Given the description of an element on the screen output the (x, y) to click on. 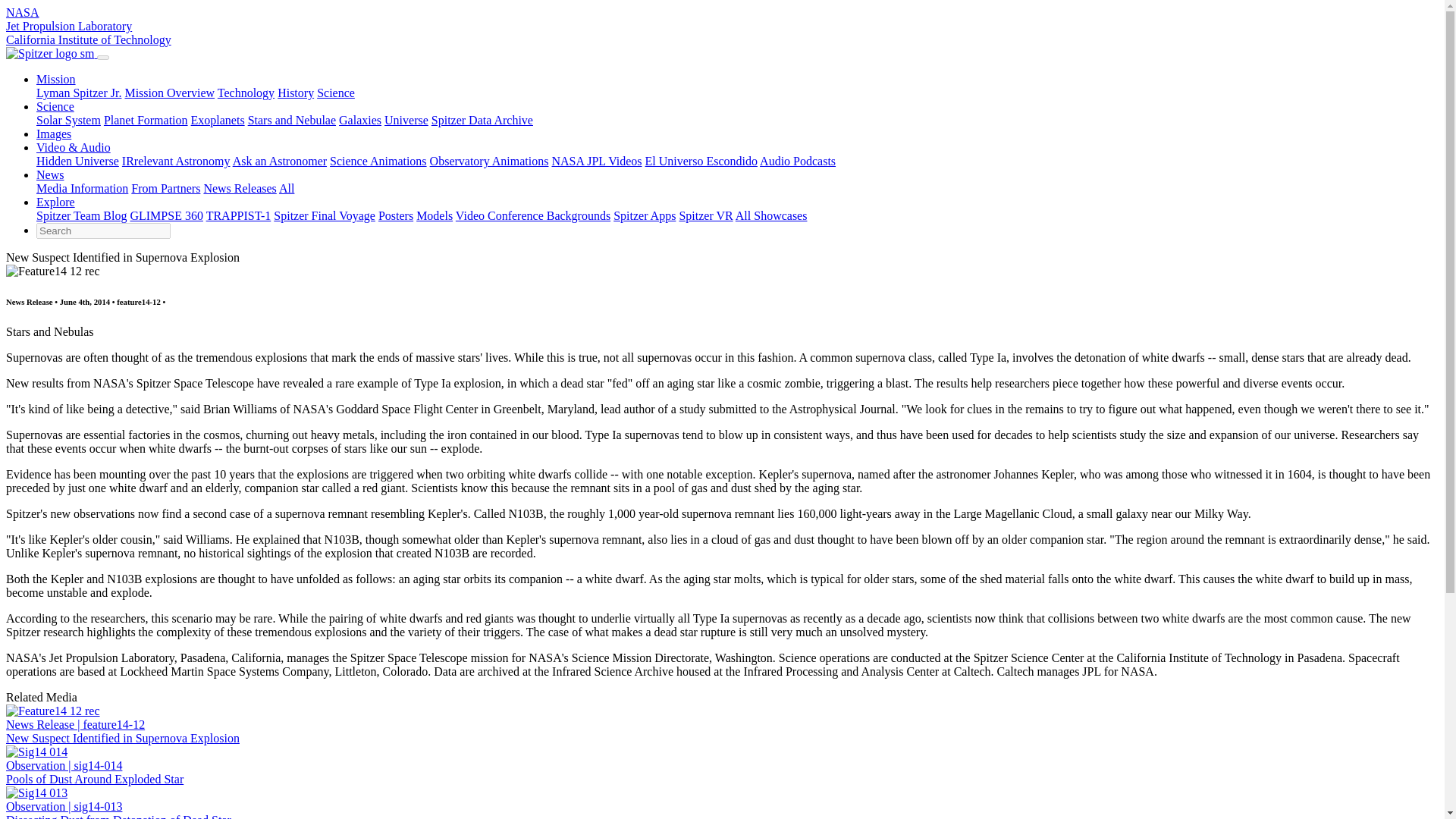
News Releases (239, 187)
Solar System (68, 119)
Galaxies (360, 119)
Universe (406, 119)
Planet Formation (145, 119)
Images (53, 133)
Jet Propulsion Laboratory (68, 25)
Exoplanets (217, 119)
California Institute of Technology (88, 39)
Posters (395, 215)
History (296, 92)
Stars and Nebulae (291, 119)
Audio Podcasts (797, 160)
Ask an Astronomer (279, 160)
Explore (55, 201)
